Given the description of an element on the screen output the (x, y) to click on. 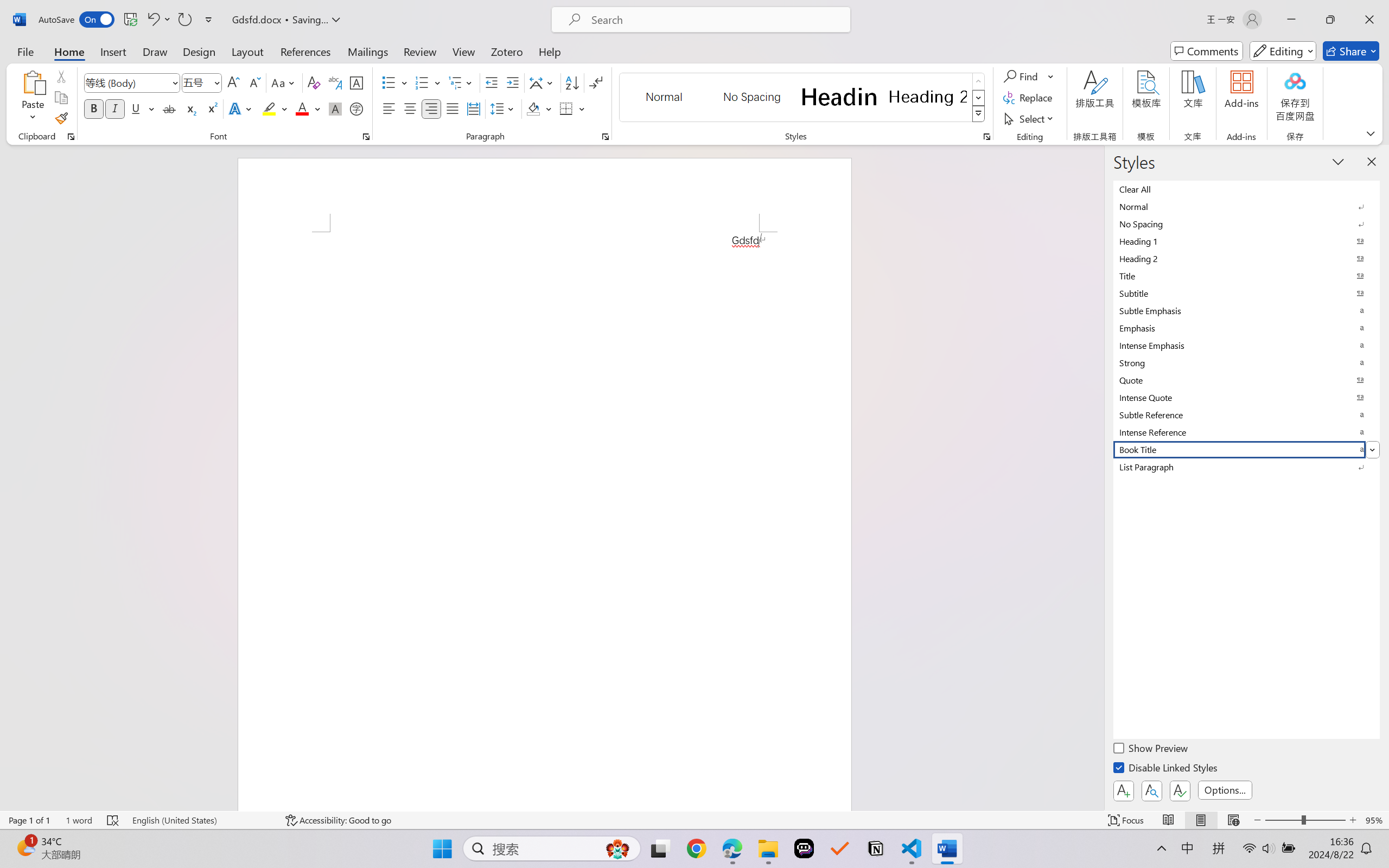
List Paragraph (1246, 466)
No Spacing (1246, 223)
Heading 2 (927, 96)
Strong (1246, 362)
Text Highlight Color (274, 108)
Page 1 content (544, 521)
